Given the description of an element on the screen output the (x, y) to click on. 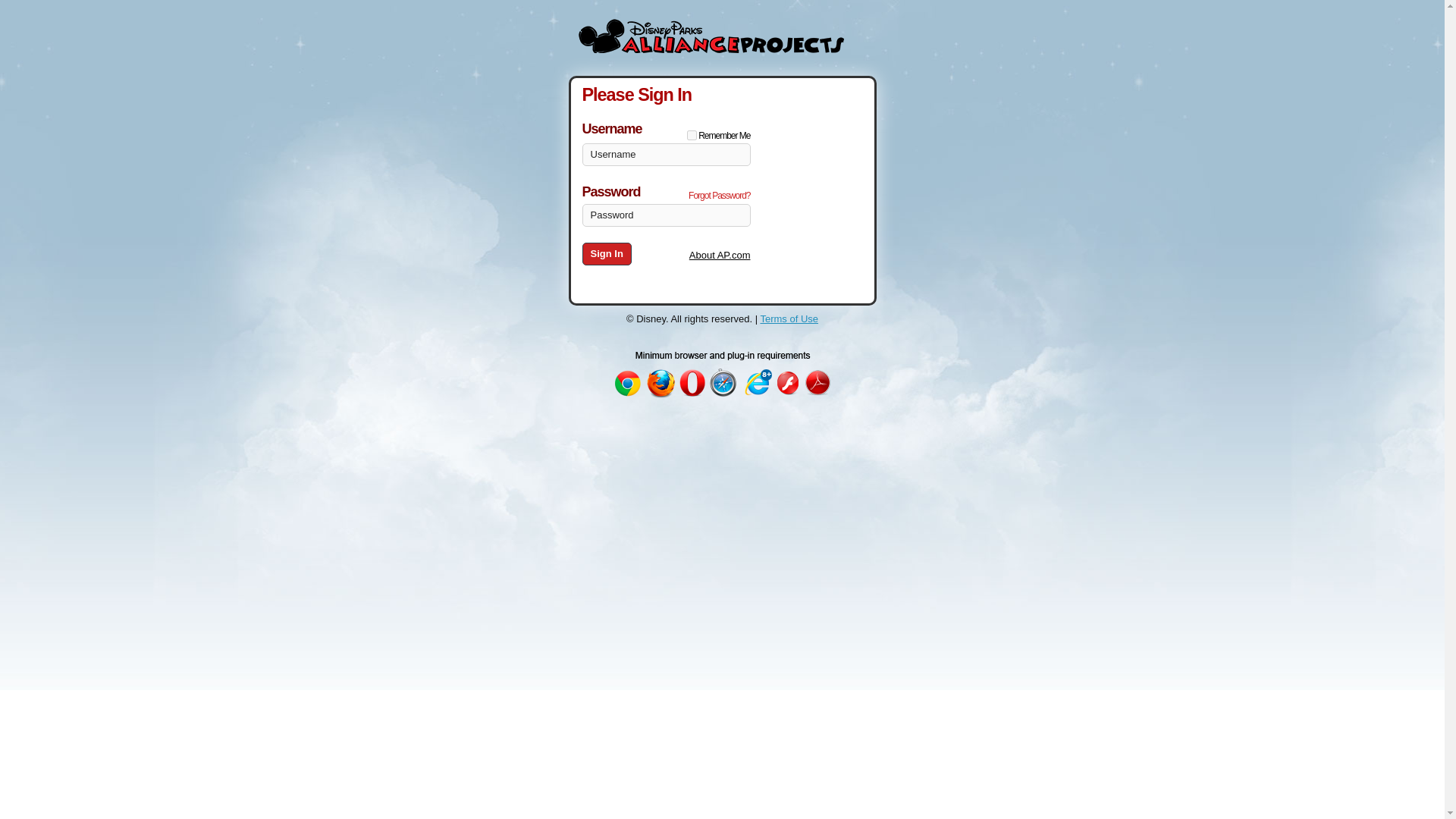
Sign In (606, 253)
Forgot Password? (718, 195)
About AP.com (719, 255)
Username (666, 154)
Password (666, 214)
true (692, 135)
Sign In (606, 253)
Terms of Use (789, 318)
